Given the description of an element on the screen output the (x, y) to click on. 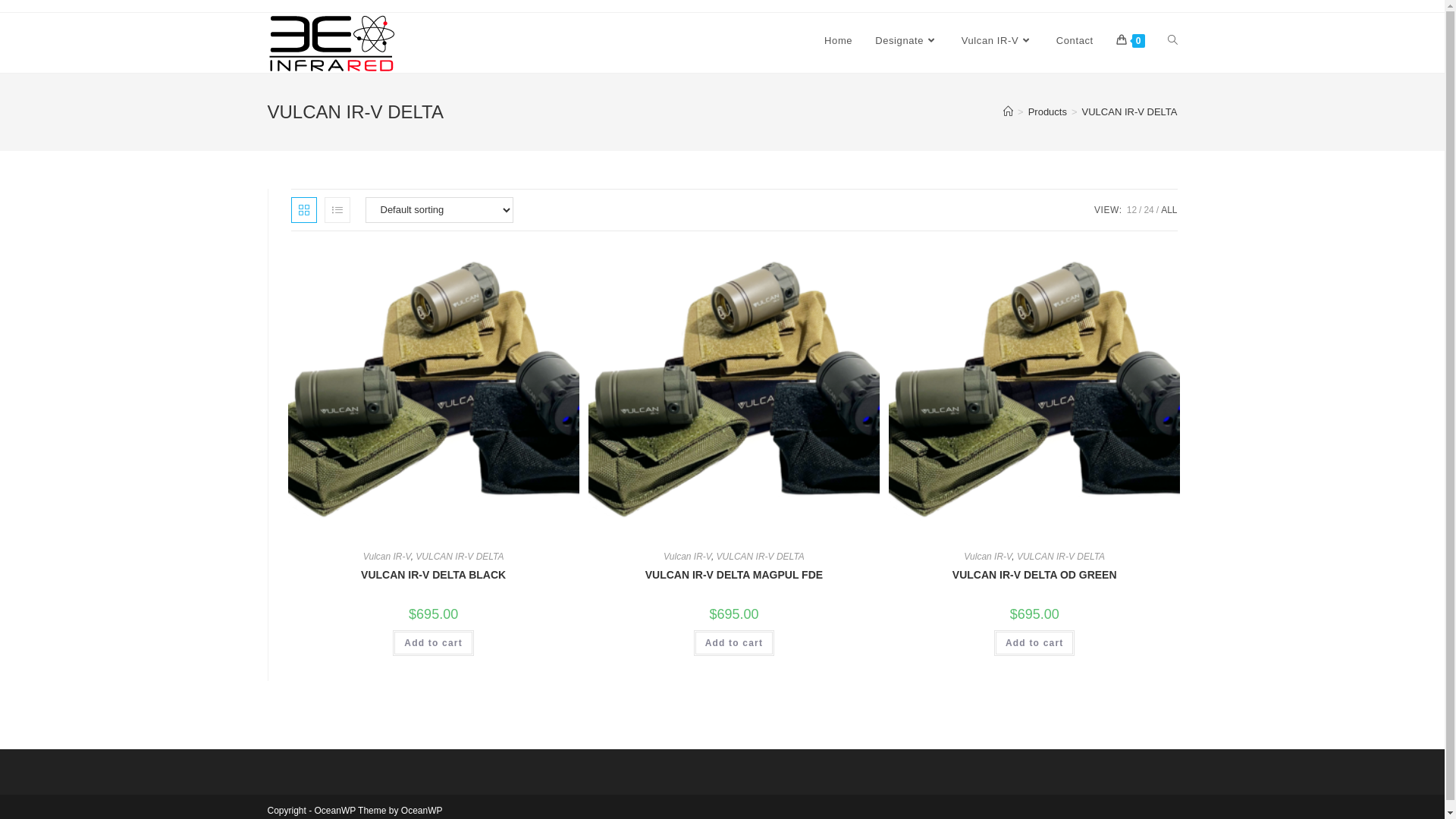
Add to cart Element type: text (734, 642)
VULCAN IR-V DELTA Element type: text (760, 556)
Contact Element type: text (1074, 40)
Vulcan IR-V Element type: text (687, 556)
VULCAN IR-V DELTA MAGPUL FDE Element type: text (733, 575)
Grid view Element type: hover (303, 209)
VULCAN IR-V DELTA Element type: text (1129, 111)
0 Element type: text (1130, 40)
Designate Element type: text (906, 40)
Vulcan IR-V Element type: text (387, 556)
VULCAN IR-V DELTA Element type: text (459, 556)
Vulcan IR-V Element type: text (987, 556)
Add to cart Element type: text (1034, 642)
VULCAN IR-V DELTA OD GREEN Element type: text (1034, 575)
Products Element type: text (1047, 111)
Add to cart Element type: text (432, 642)
12 Element type: text (1131, 209)
VULCAN IR-V DELTA Element type: text (1060, 556)
ALL Element type: text (1168, 209)
Toggle website search Element type: text (1171, 40)
VULCAN IR-V DELTA BLACK Element type: text (432, 575)
List view Element type: hover (337, 209)
Home Element type: text (837, 40)
24 Element type: text (1148, 209)
Vulcan IR-V Element type: text (997, 40)
